Given the description of an element on the screen output the (x, y) to click on. 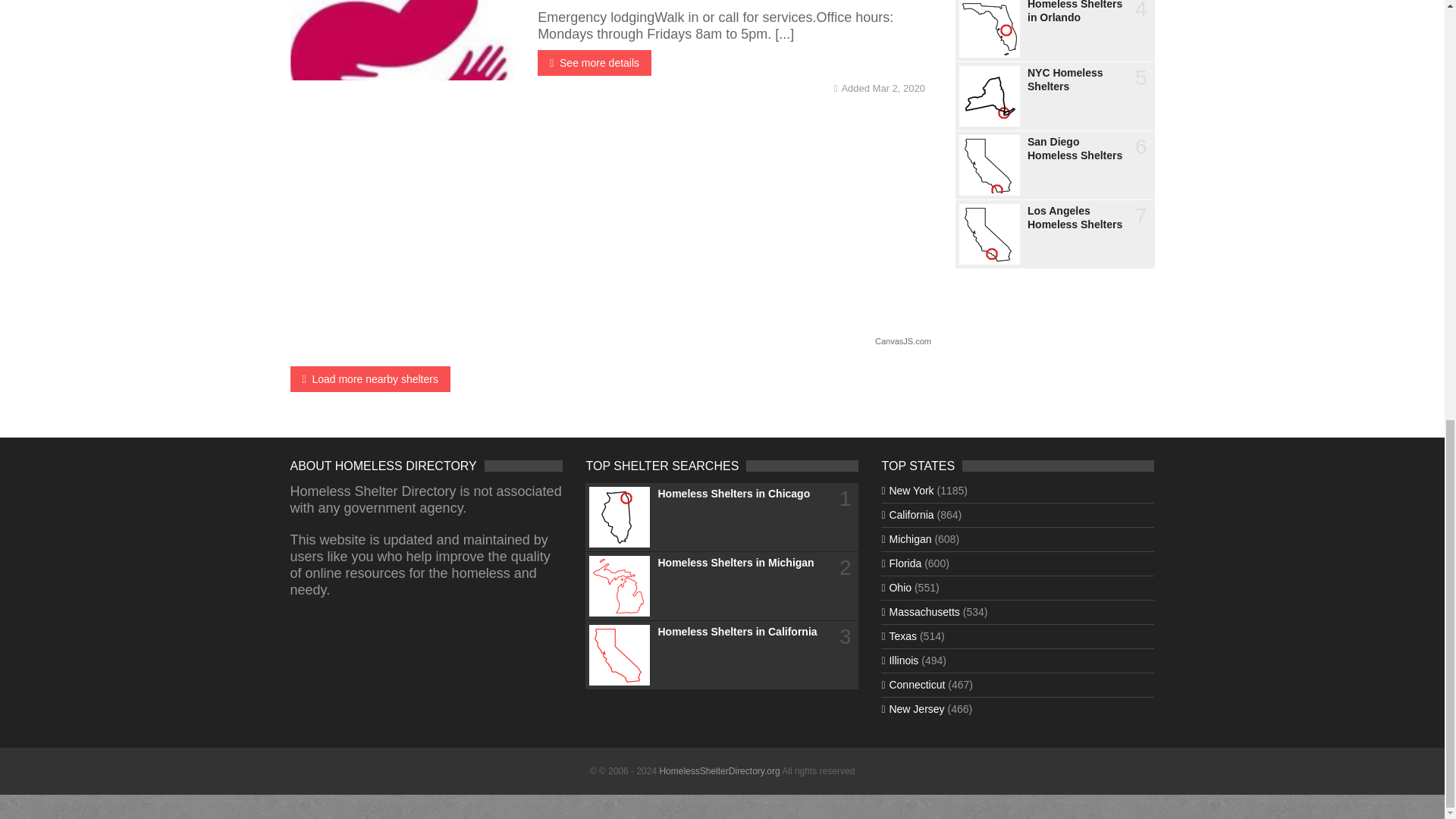
JavaScript Charts (903, 340)
  Load more nearby shelters (369, 379)
CanvasJS.com (903, 340)
  See more details (593, 62)
